Given the description of an element on the screen output the (x, y) to click on. 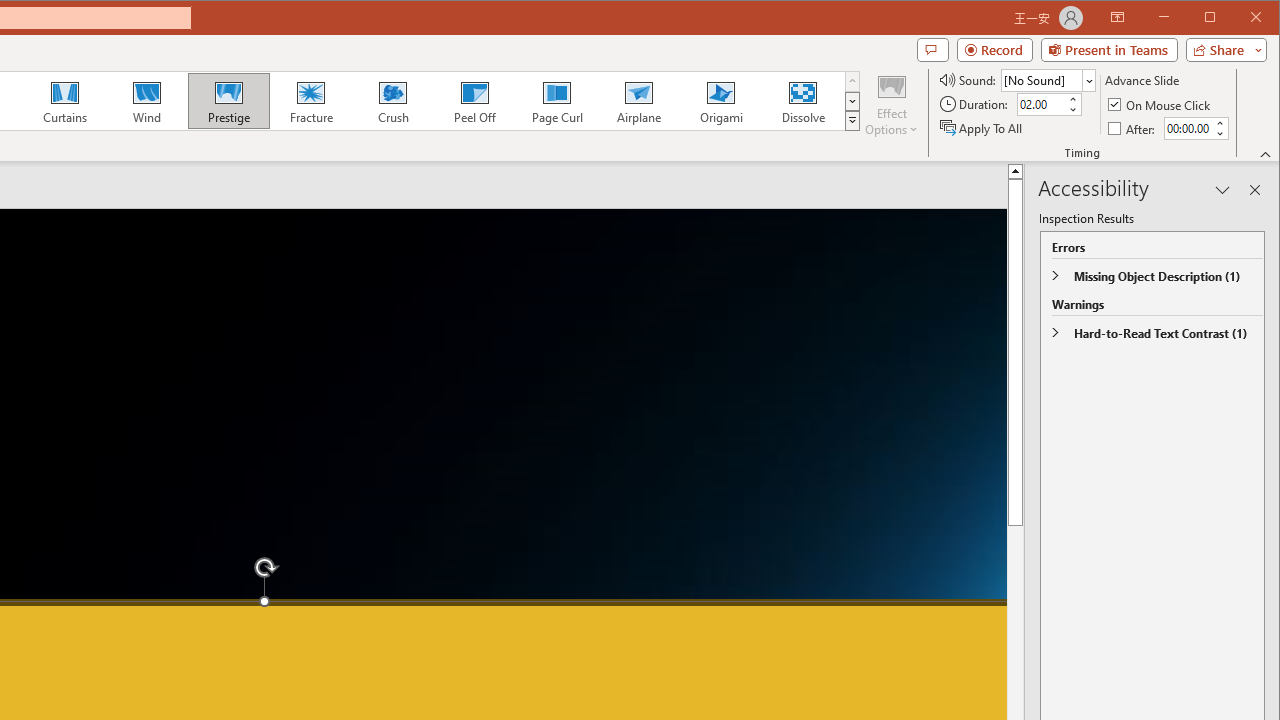
Curtains (65, 100)
Transition Effects (852, 120)
Apply To All (982, 127)
Wind (147, 100)
After (1133, 127)
Fracture (311, 100)
Sound (1047, 80)
On Mouse Click (1160, 103)
